Given the description of an element on the screen output the (x, y) to click on. 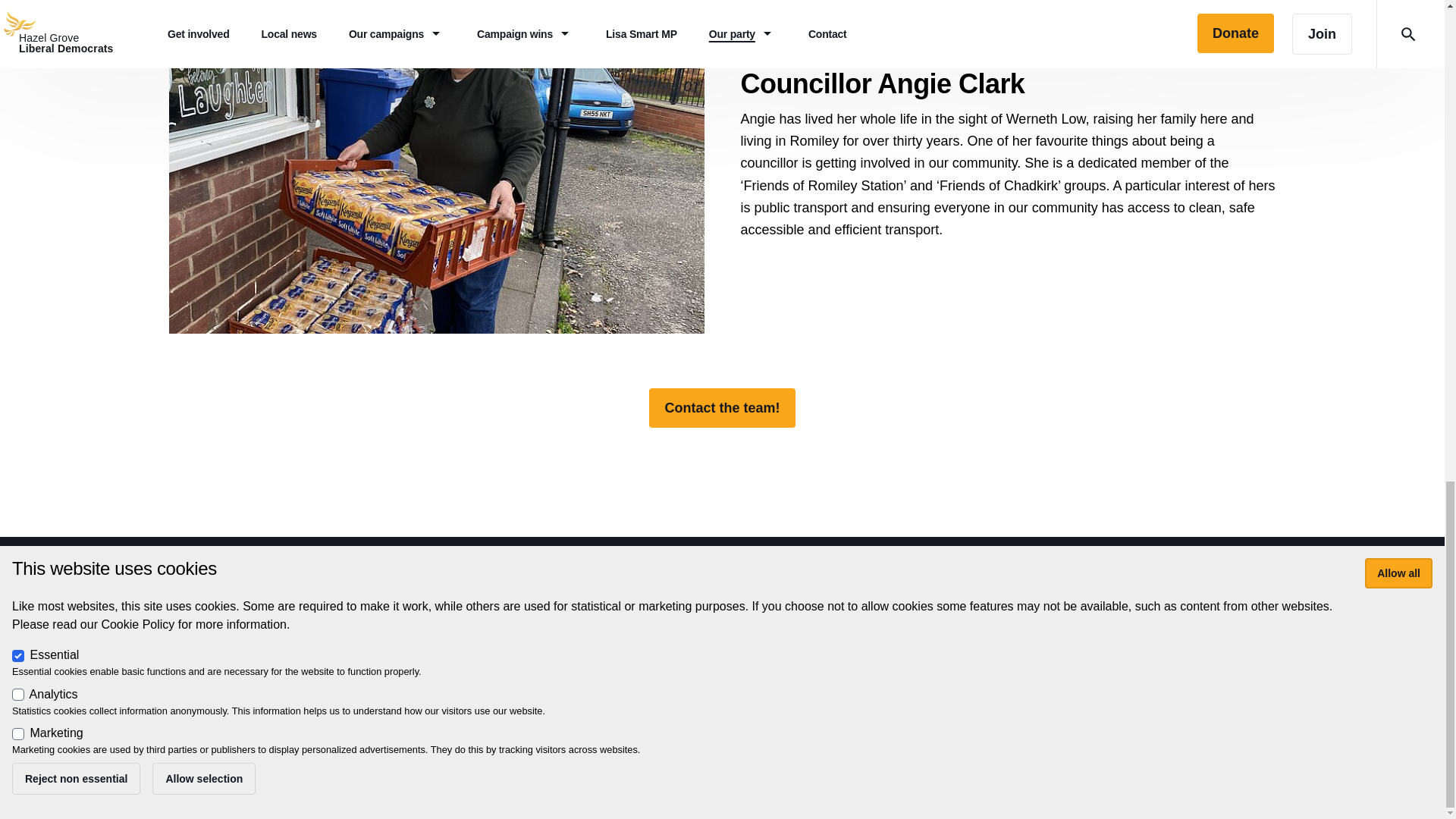
cookie policy (741, 677)
accessibility statement (635, 677)
Contact the team! (721, 407)
